Given the description of an element on the screen output the (x, y) to click on. 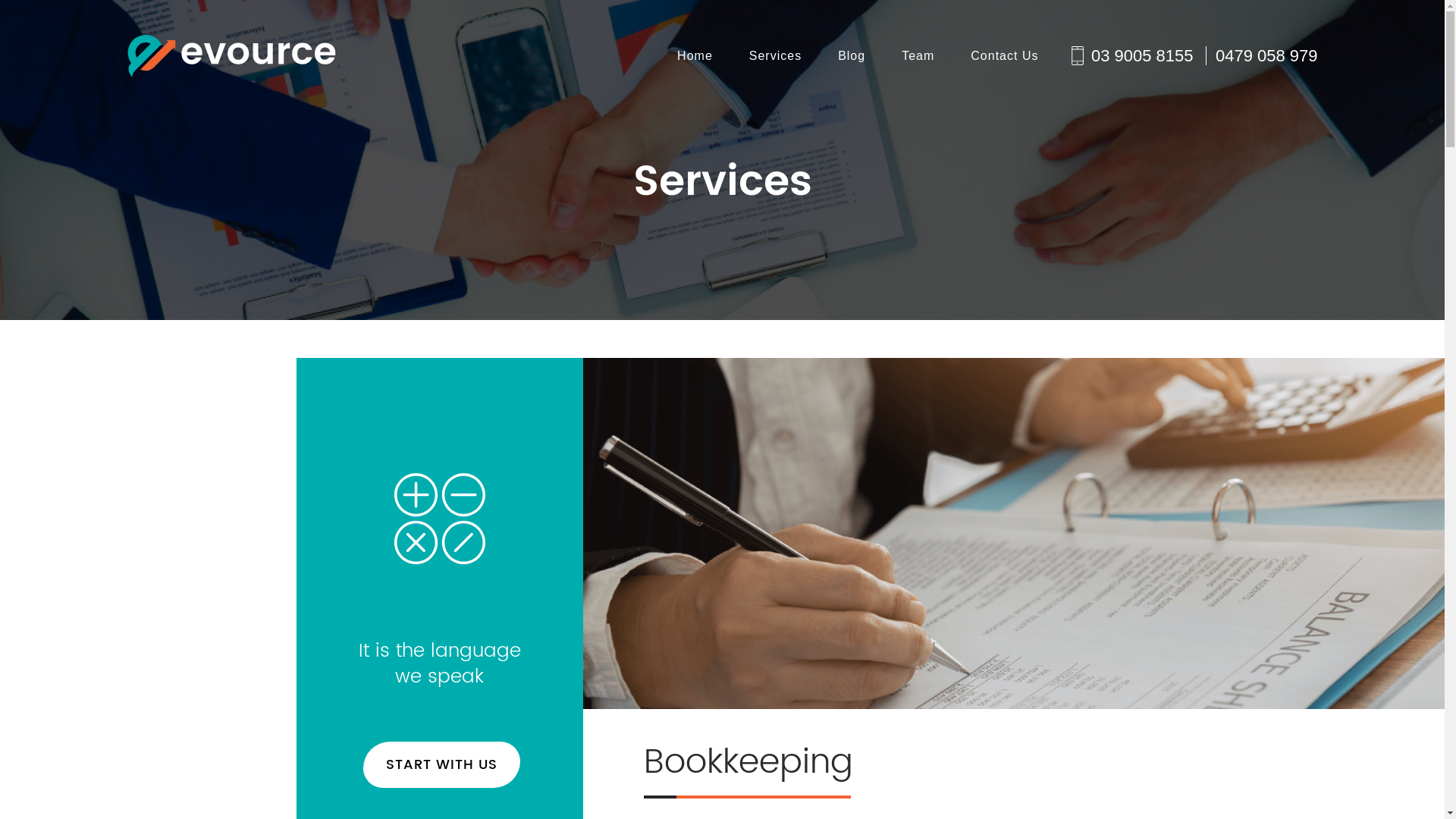
03 9005 8155 Element type: text (1142, 55)
Services Element type: text (775, 55)
Home Element type: text (694, 55)
Contact Us Element type: text (1004, 55)
0479 058 979 Element type: text (1261, 55)
Blog Element type: text (851, 55)
Team Element type: text (917, 55)
START WITH US Element type: text (441, 764)
